Given the description of an element on the screen output the (x, y) to click on. 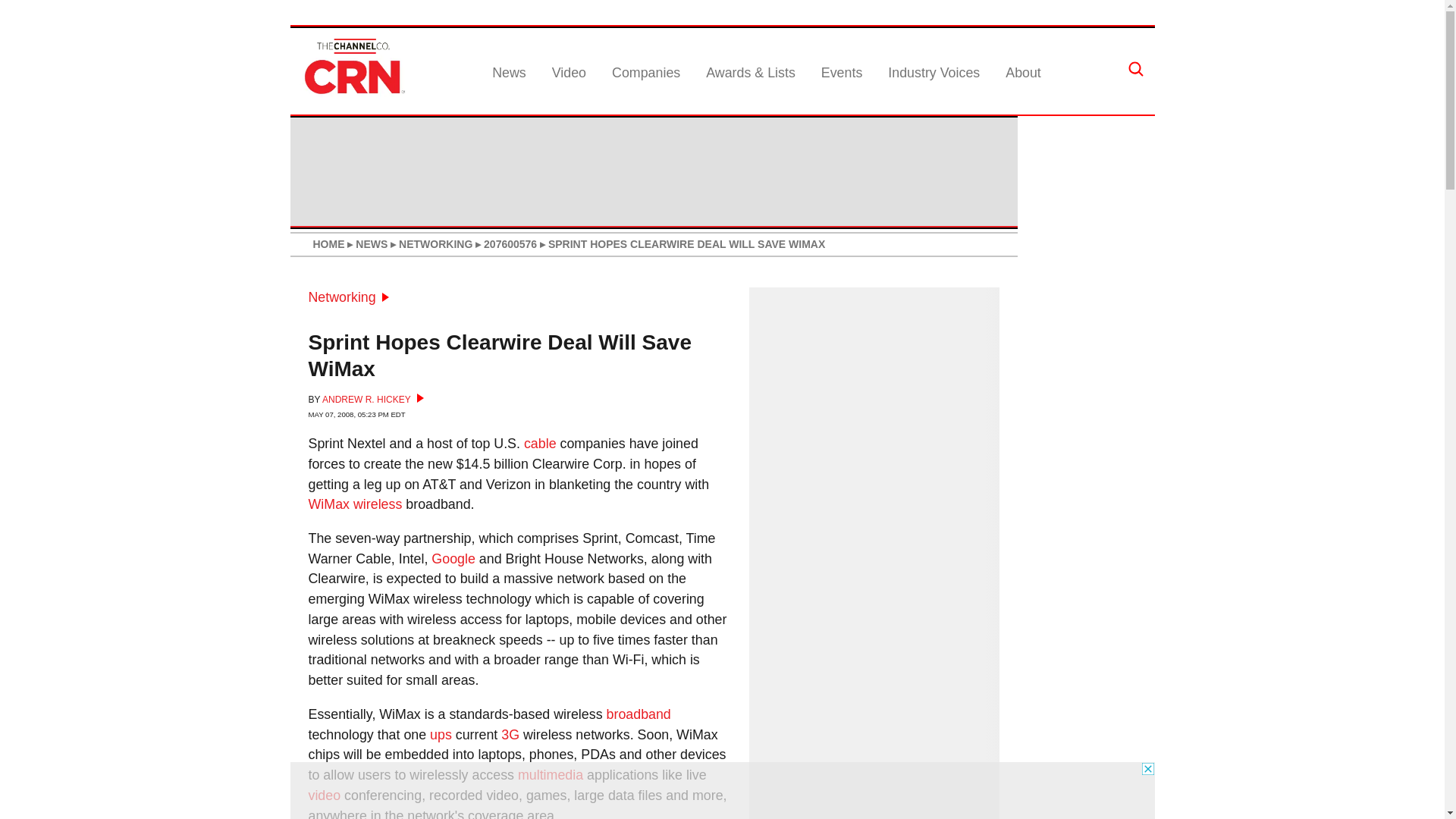
Networking (347, 296)
video (323, 795)
broadband (639, 713)
wireless (377, 503)
3G (509, 734)
Google (453, 558)
cable (540, 443)
ups (440, 734)
WiMax (328, 503)
Navigate to homepage (352, 94)
